Given the description of an element on the screen output the (x, y) to click on. 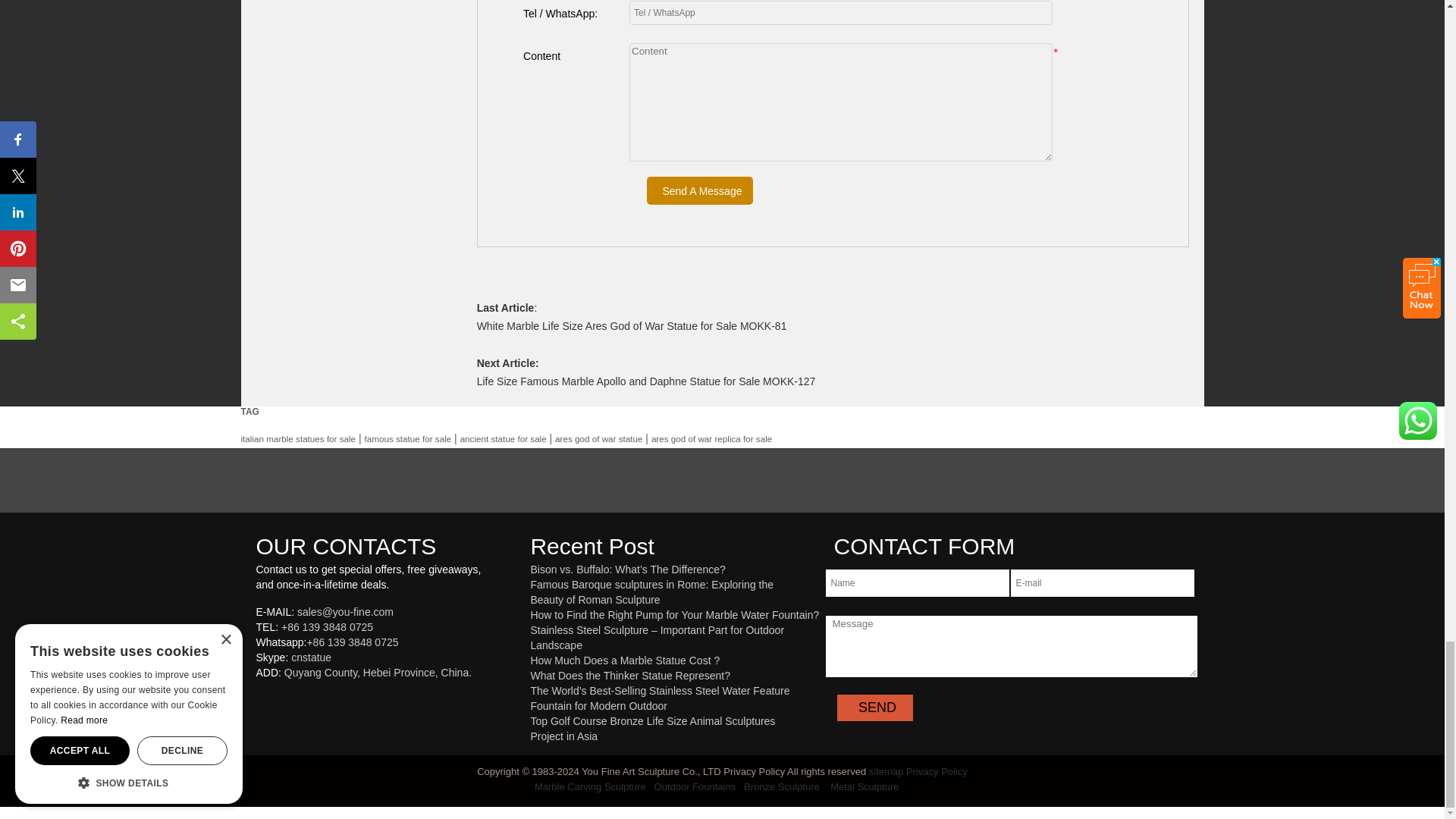
SEND (874, 707)
Send A Message (699, 190)
